Given the description of an element on the screen output the (x, y) to click on. 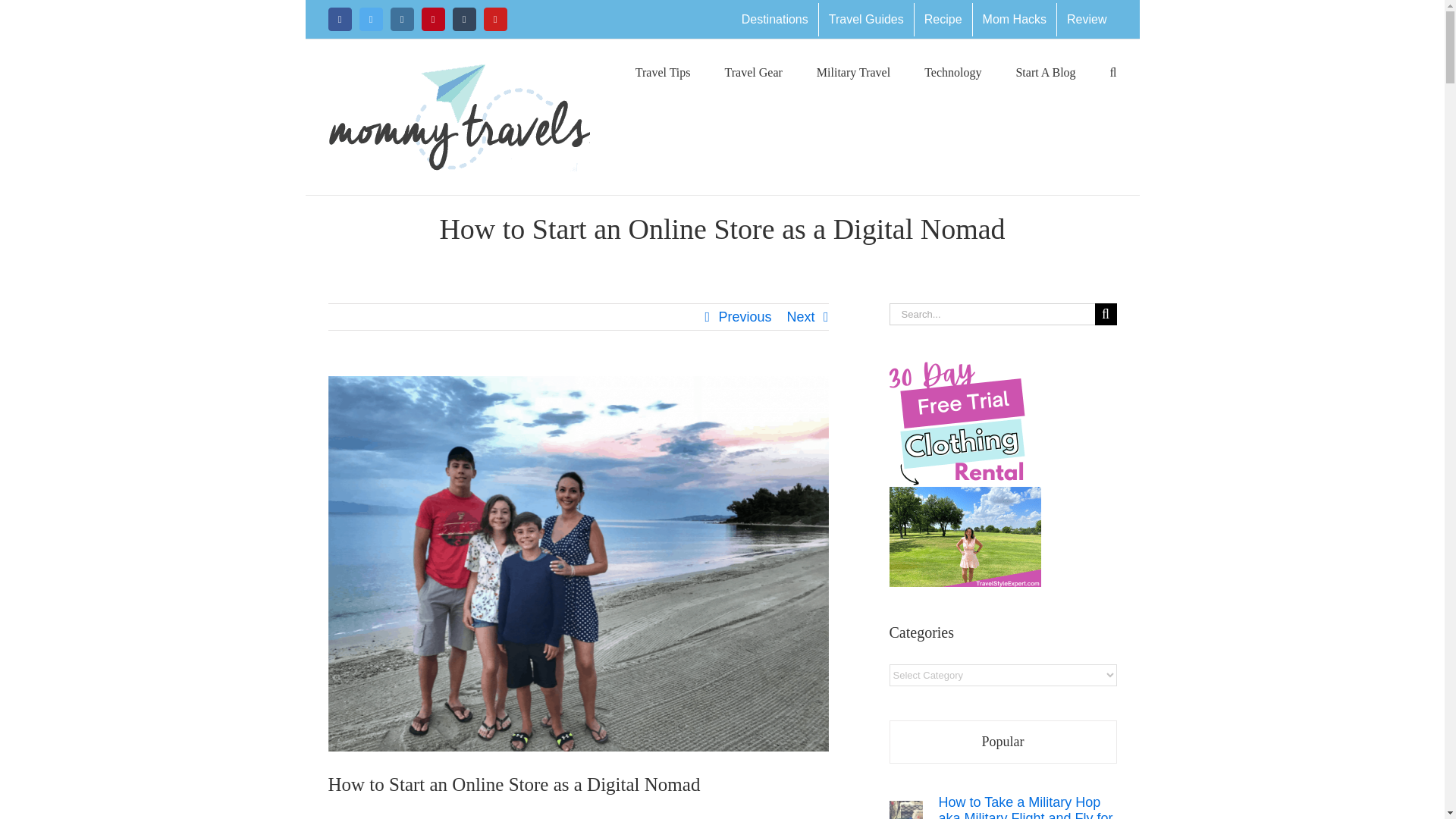
Twitter (370, 19)
YouTube (494, 19)
Instagram (401, 19)
Tumblr (463, 19)
YouTube (494, 19)
Instagram (401, 19)
Pinterest (433, 19)
Facebook (338, 19)
Destinations (775, 19)
